Given the description of an element on the screen output the (x, y) to click on. 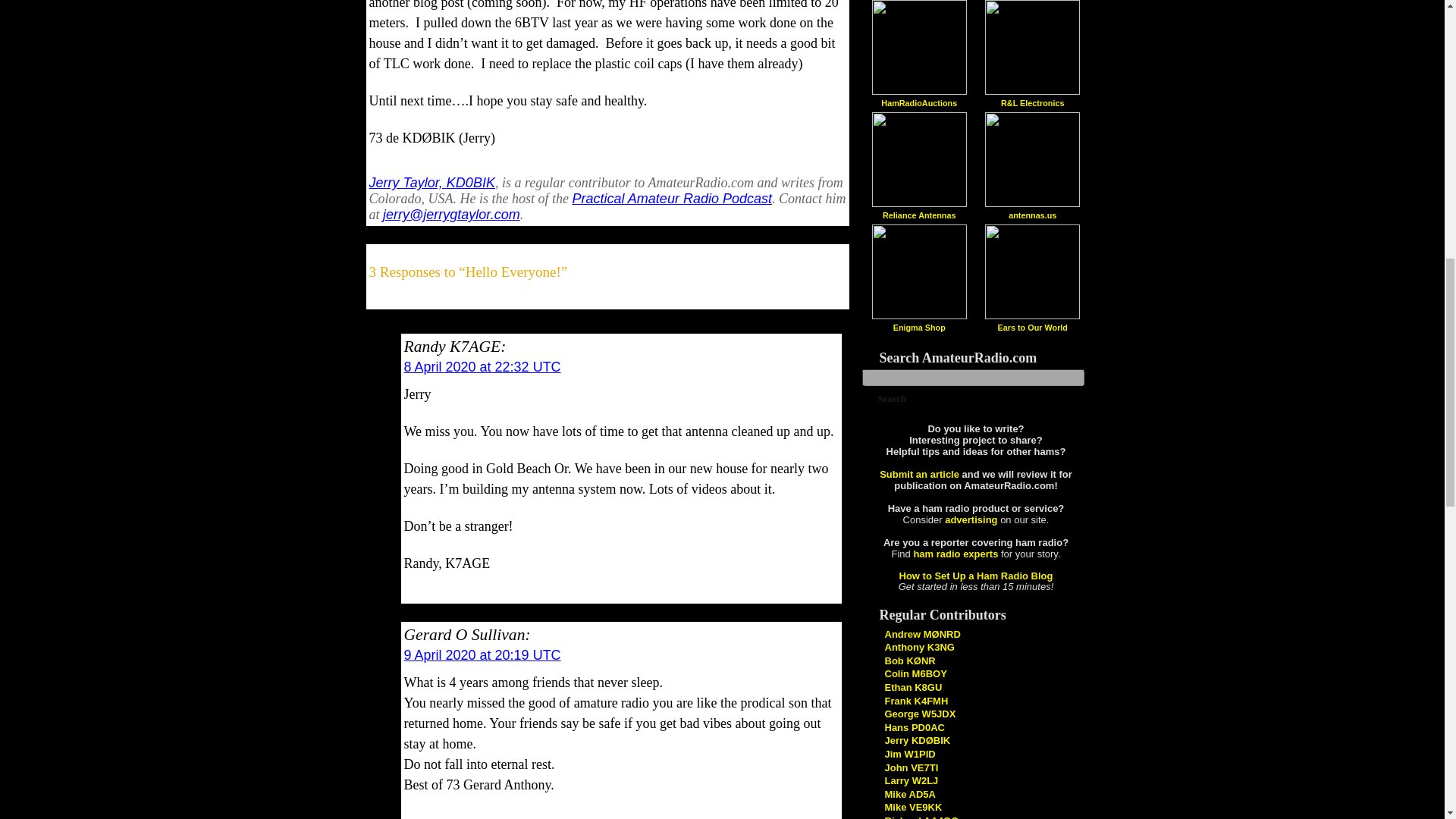
Lower your Power  Raise your Expectations (920, 816)
MY HAM RADIO EXPERIENCES (908, 794)
Jerry Taylor, KD0BIK (431, 182)
8 April 2020 at 22:32 UTC (481, 366)
Search (891, 398)
Thoughts of a Dutch radio amateur (913, 727)
Practical Amateur Radio Podcast (671, 198)
HamRadioAuctions (918, 102)
9 April 2020 at 20:19 UTC (481, 654)
